Given the description of an element on the screen output the (x, y) to click on. 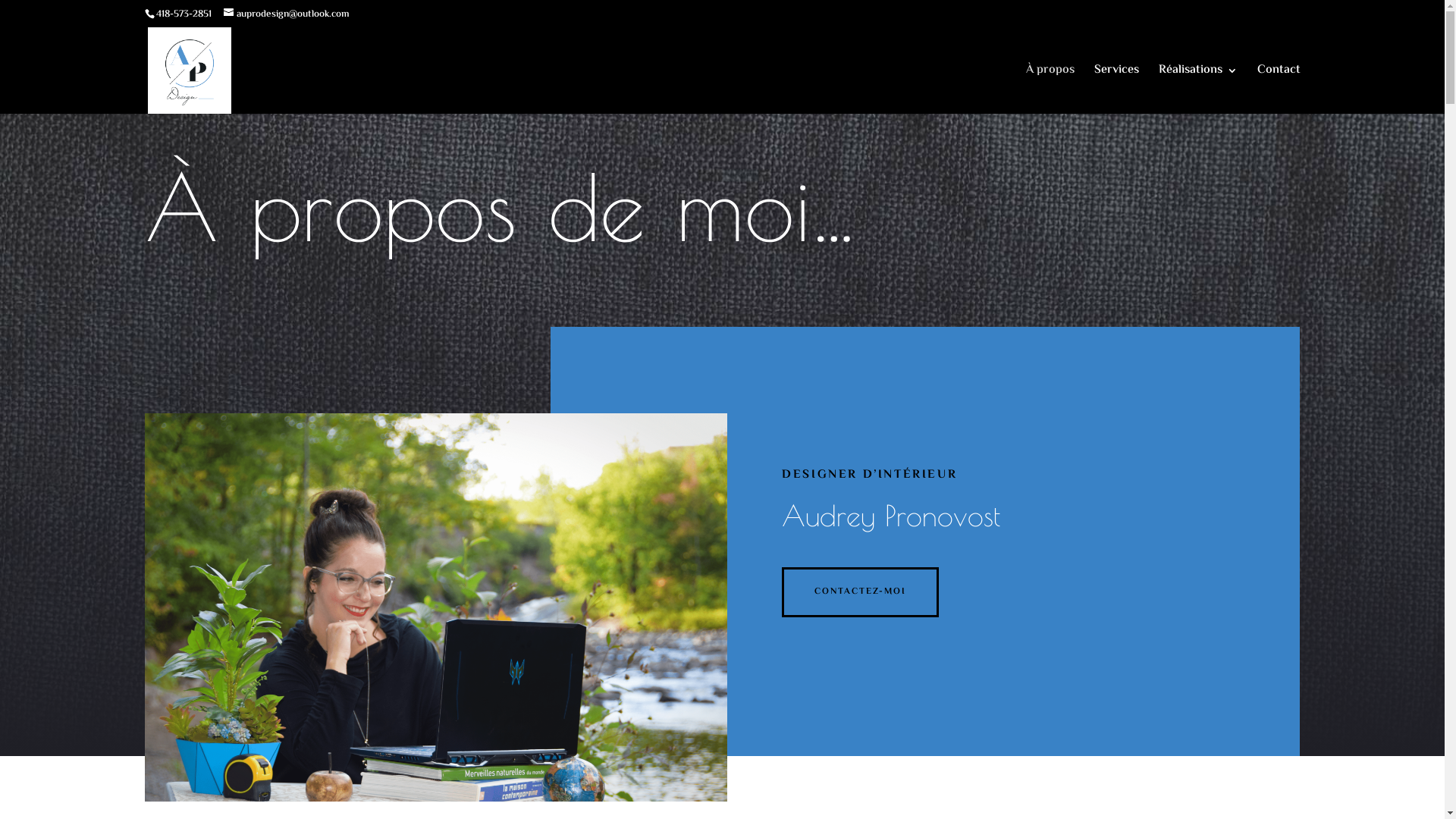
CONTACTEZ-MOI Element type: text (859, 592)
Services Element type: text (1115, 89)
Photoshoot Audrey 2021_009-4-min Element type: hover (435, 607)
Contact Element type: text (1278, 89)
auprodesign@outlook.com Element type: text (285, 13)
